Given the description of an element on the screen output the (x, y) to click on. 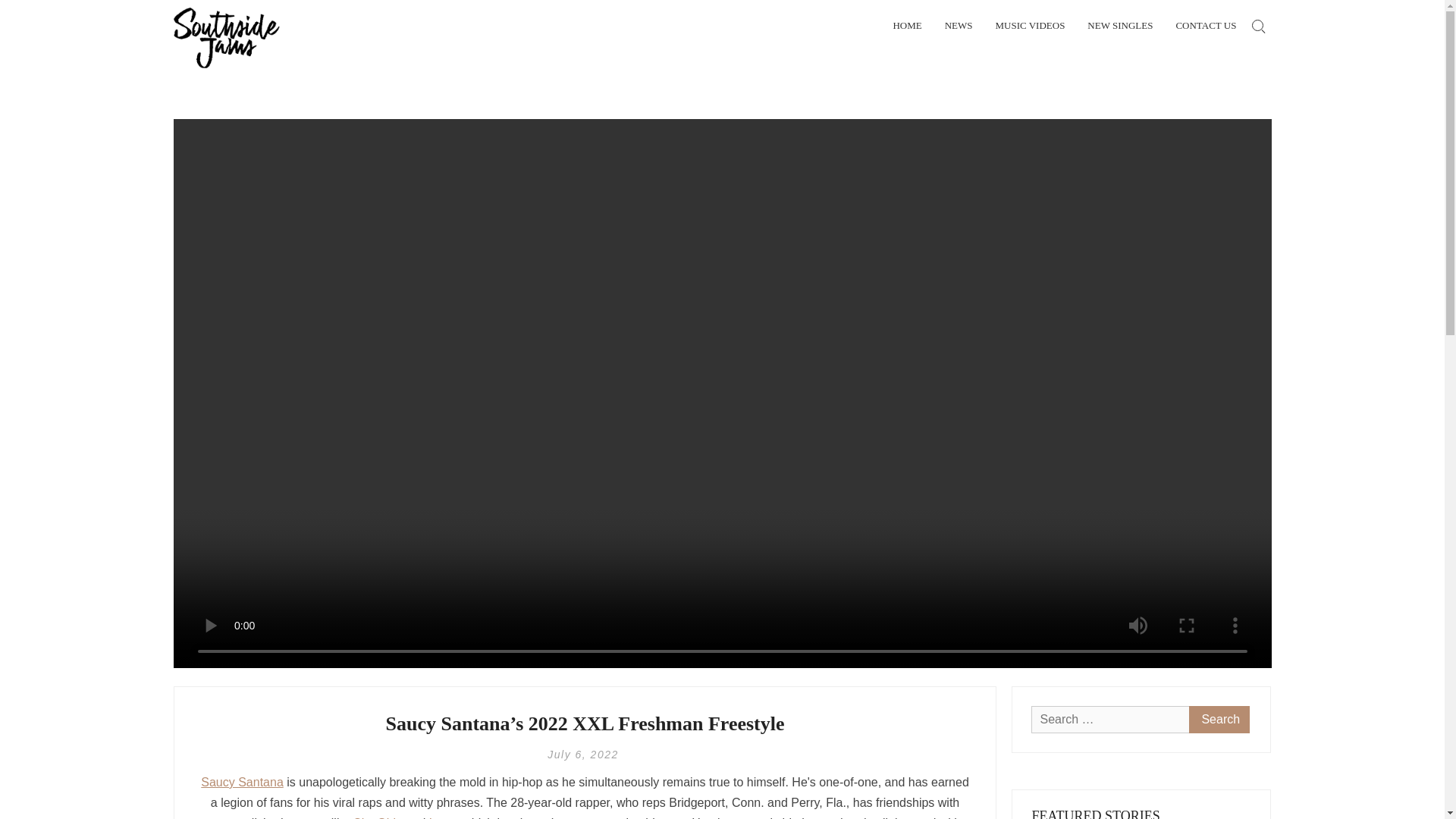
MUSIC VIDEOS (1029, 25)
Search (1219, 719)
HOME (906, 25)
City Girls (376, 817)
Latto (443, 817)
July 6, 2022 (582, 754)
Saucy Santana (241, 781)
Search (397, 426)
CONTACT US (1205, 25)
NEW SINGLES (1120, 25)
SOUTHSIDE JAMS (376, 37)
NEWS (958, 25)
Search (1219, 719)
Search for: (1257, 26)
